Given the description of an element on the screen output the (x, y) to click on. 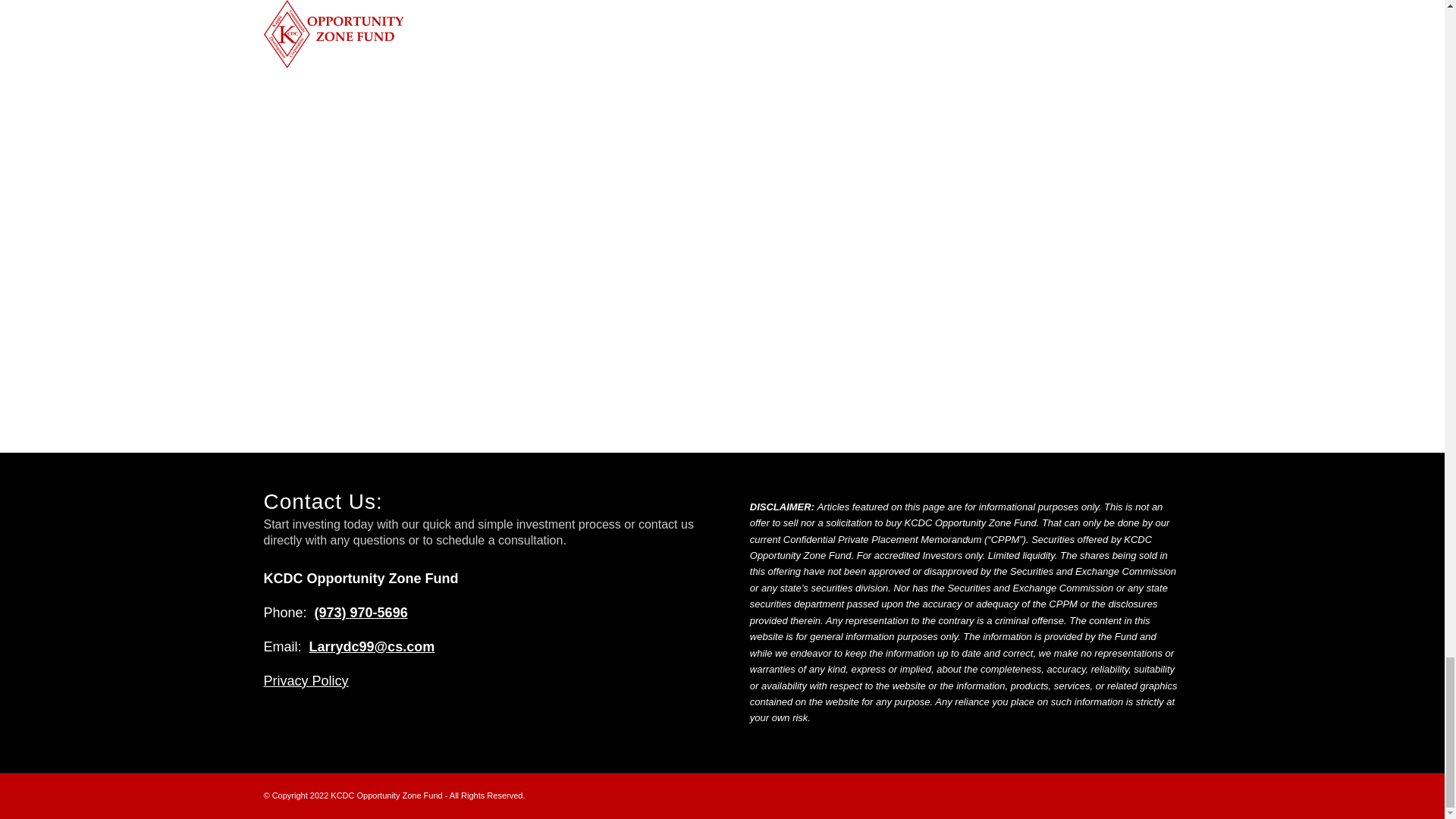
Privacy Policy (306, 680)
